Given the description of an element on the screen output the (x, y) to click on. 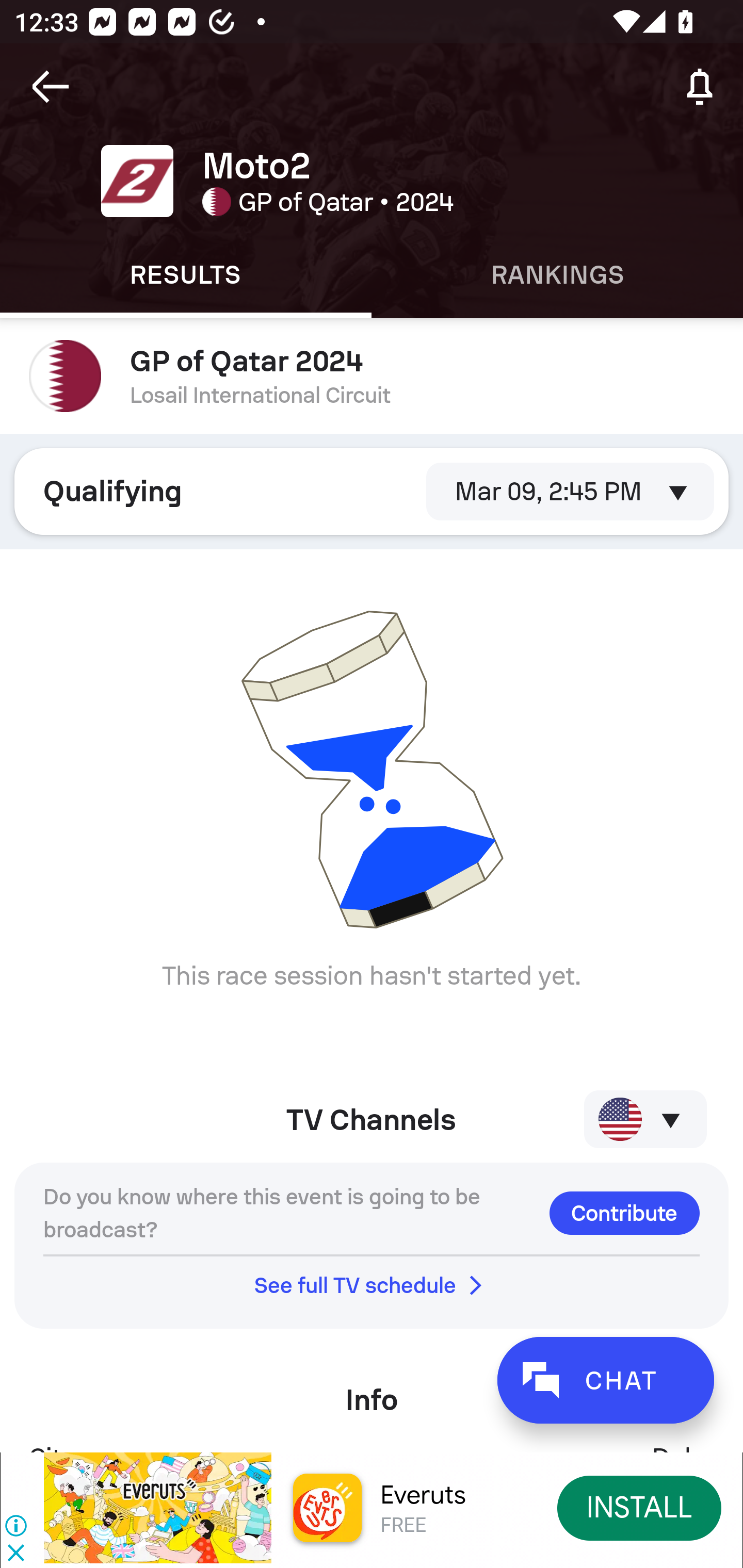
Navigate up (50, 86)
Rankings RANKINGS (557, 275)
Qualifying Mar 09, 2:45 PM (371, 491)
Mar 09, 2:45 PM (562, 491)
Contribute (624, 1212)
See full TV schedule (371, 1284)
CHAT (605, 1380)
INSTALL (639, 1507)
Everuts (422, 1494)
FREE (403, 1525)
